Given the description of an element on the screen output the (x, y) to click on. 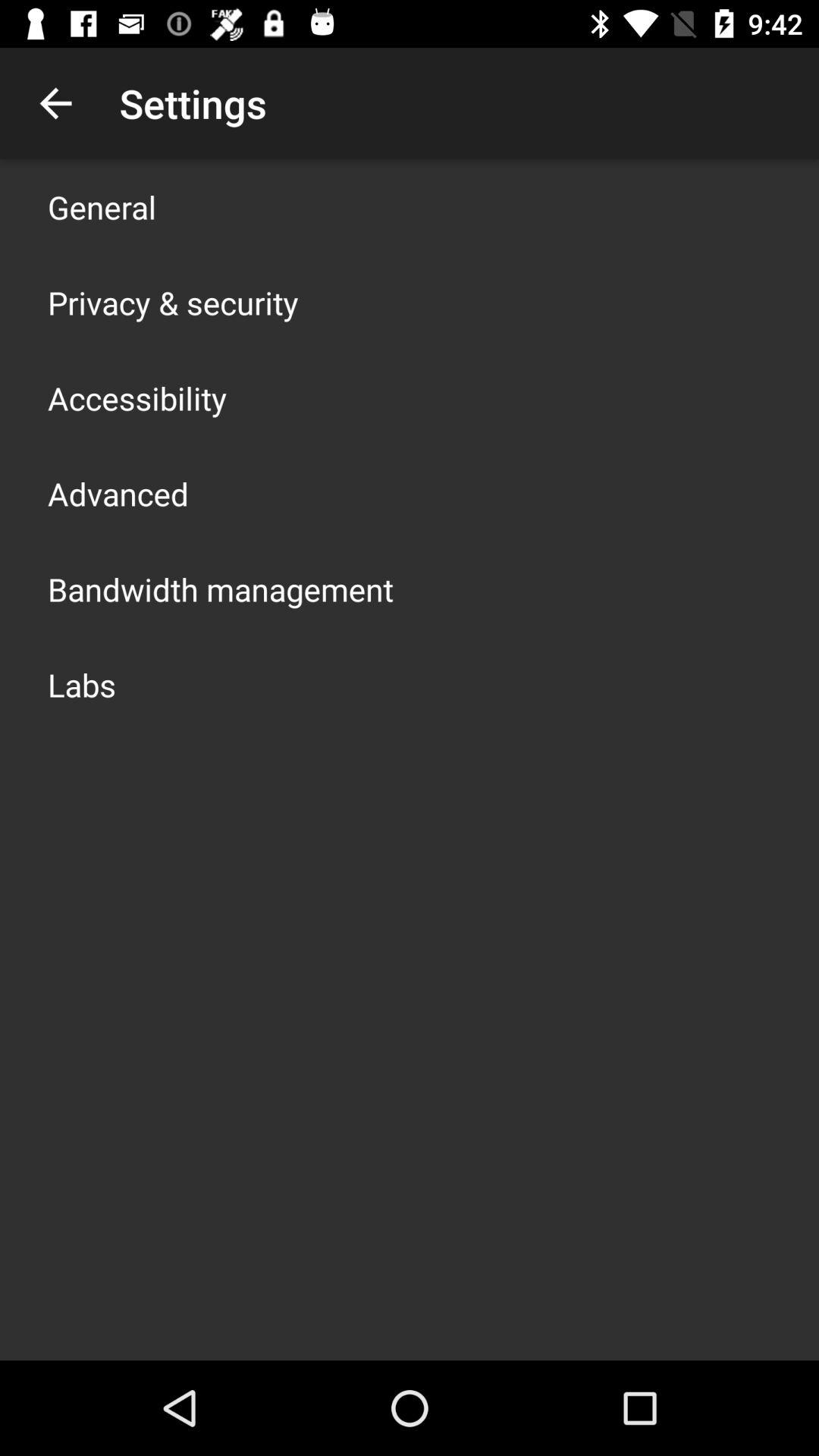
select item below bandwidth management icon (81, 684)
